Given the description of an element on the screen output the (x, y) to click on. 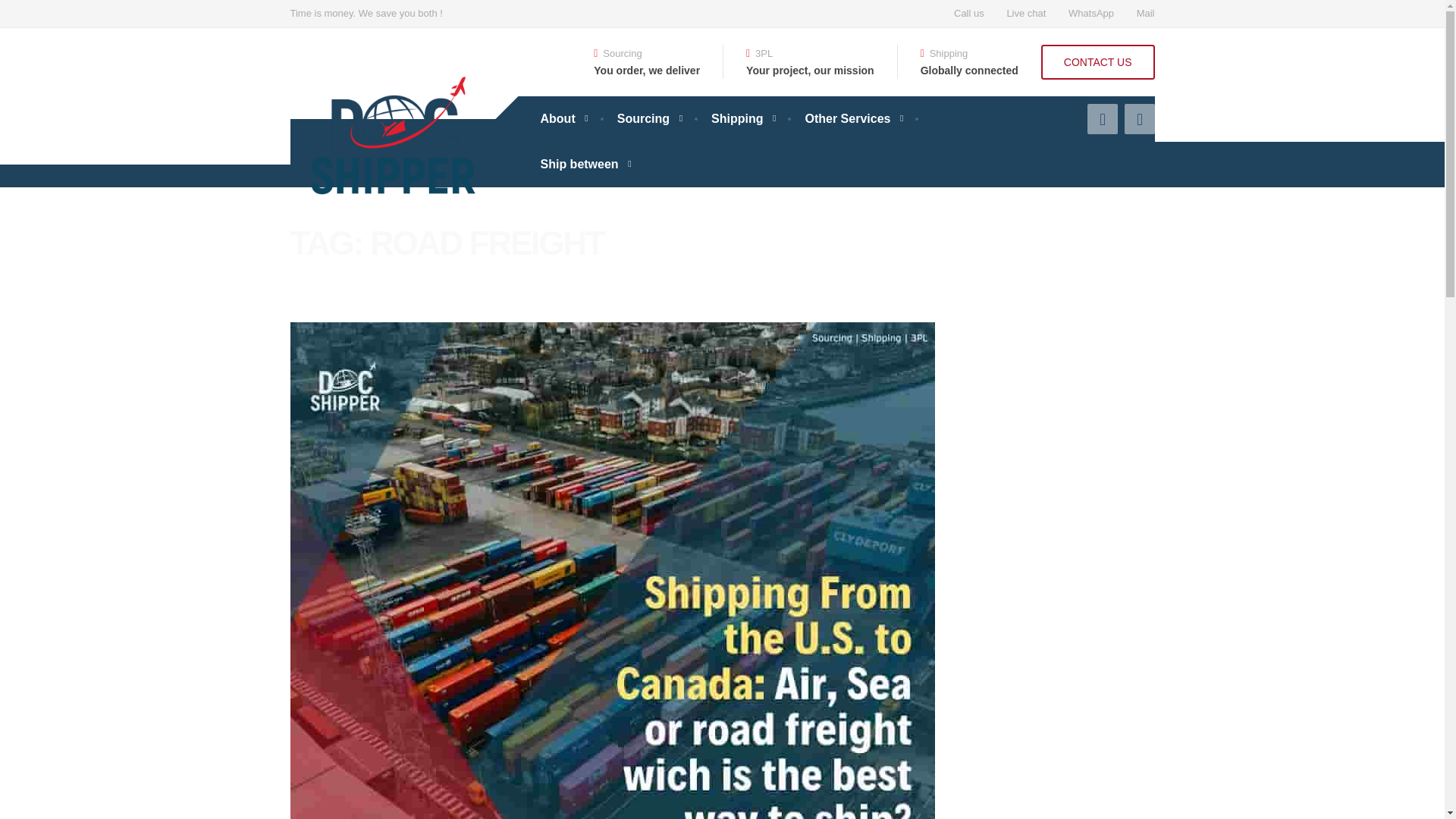
Sourcing (648, 118)
Other Services (853, 118)
Call us (968, 13)
Mail (1140, 13)
Live chat (1025, 13)
About (562, 118)
Shipping (742, 118)
Ship between (584, 164)
WhatsApp (1091, 13)
